Given the description of an element on the screen output the (x, y) to click on. 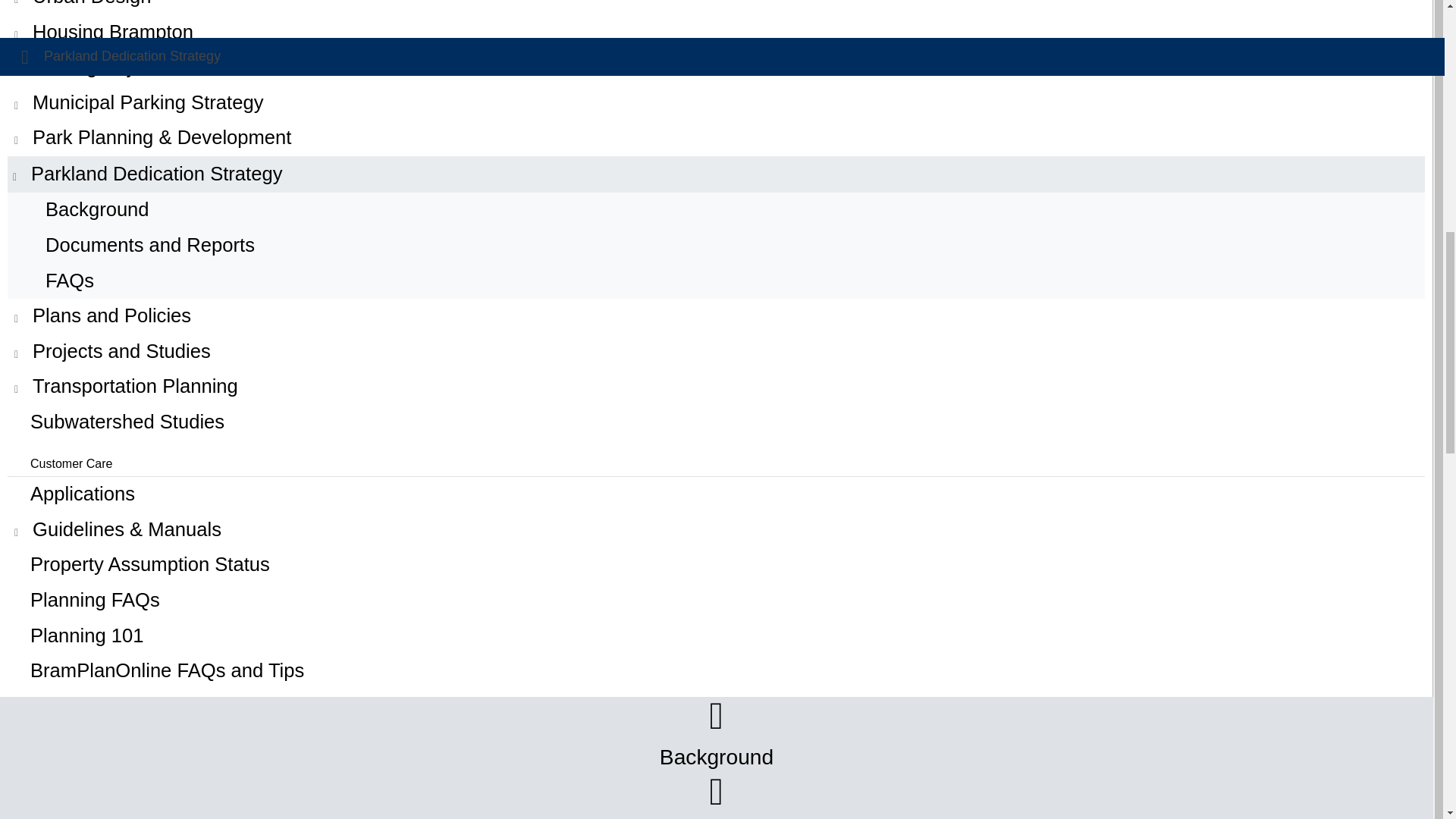
Custom City of Brampton Website (716, 138)
Custom City of Brampton Website (716, 174)
Custom City of Brampton Website (716, 316)
Custom City of Brampton Website (716, 32)
Custom City of Brampton Website (716, 103)
